Given the description of an element on the screen output the (x, y) to click on. 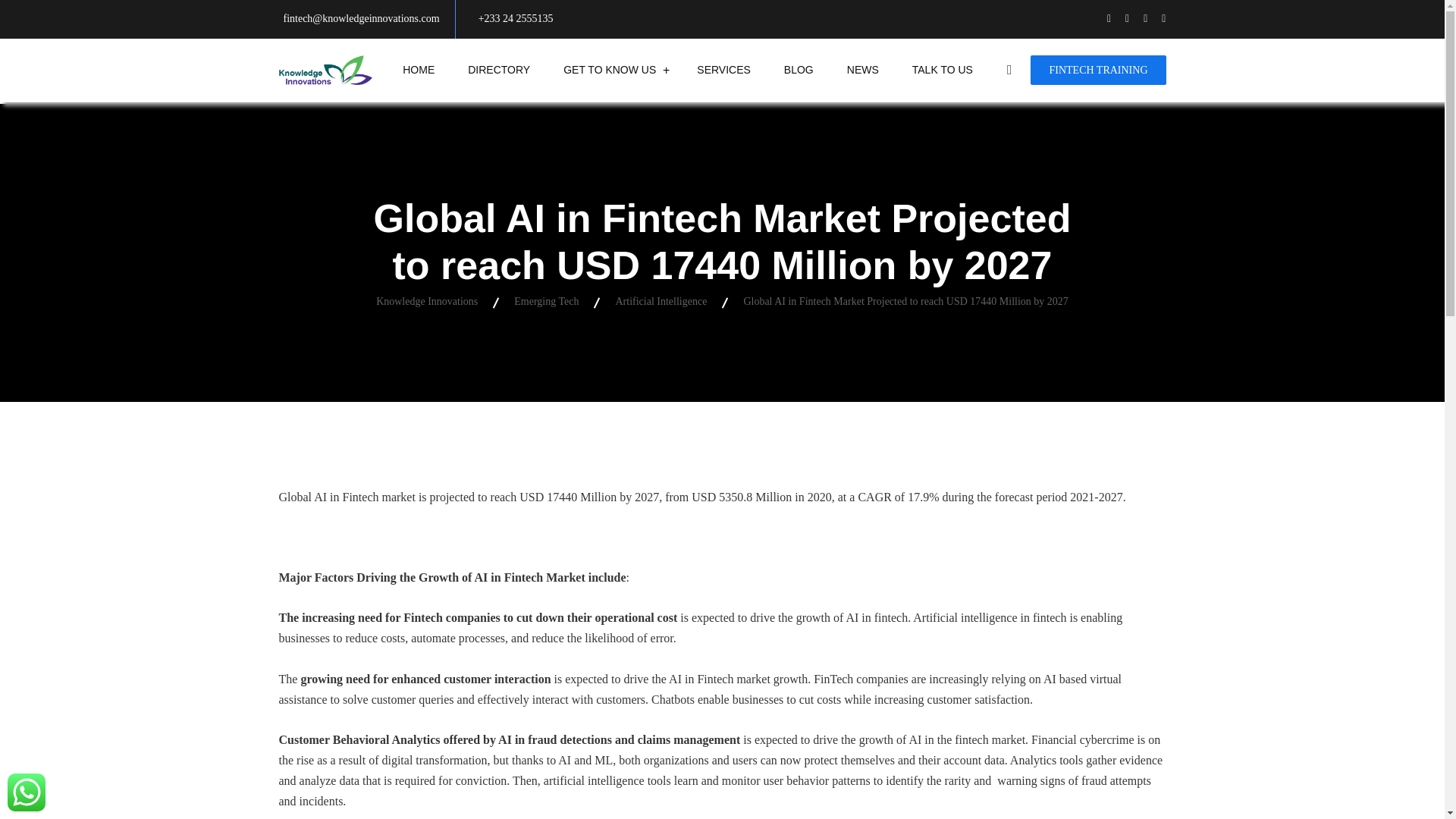
GET TO KNOW US (609, 70)
SERVICES (723, 70)
Go to Knowledge Innovations. (426, 301)
Go to the Artificial Intelligence category archives. (660, 301)
DIRECTORY (498, 70)
BLOG (798, 70)
HOME (418, 70)
Go to the Emerging Tech category archives. (545, 301)
